Given the description of an element on the screen output the (x, y) to click on. 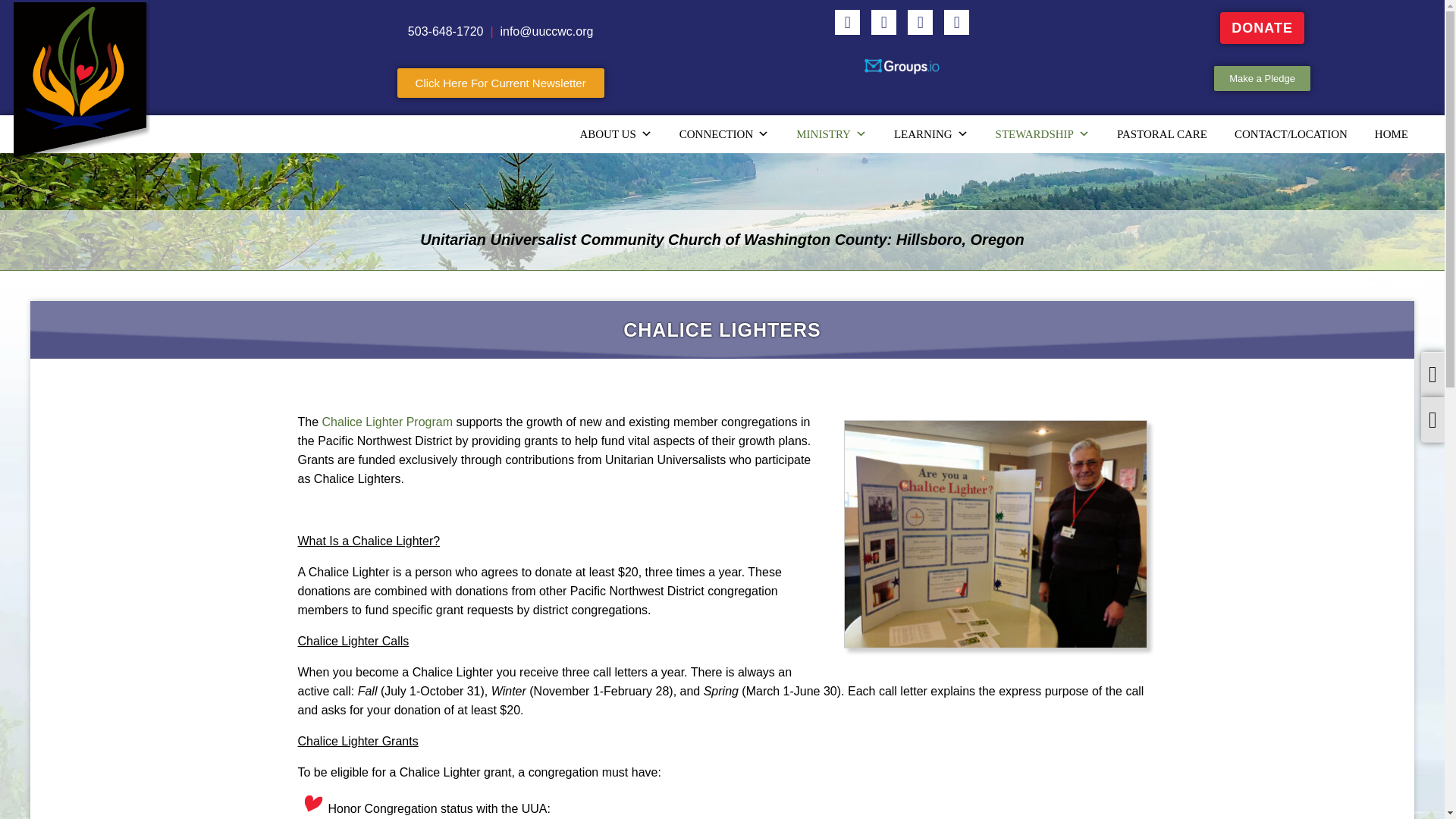
CONNECTION (724, 134)
503-648-1720 (445, 31)
ABOUT US (615, 134)
MINISTRY (831, 134)
DONATE (1262, 28)
Click Here For Current Newsletter (500, 82)
Make a Pledge (1262, 78)
